Given the description of an element on the screen output the (x, y) to click on. 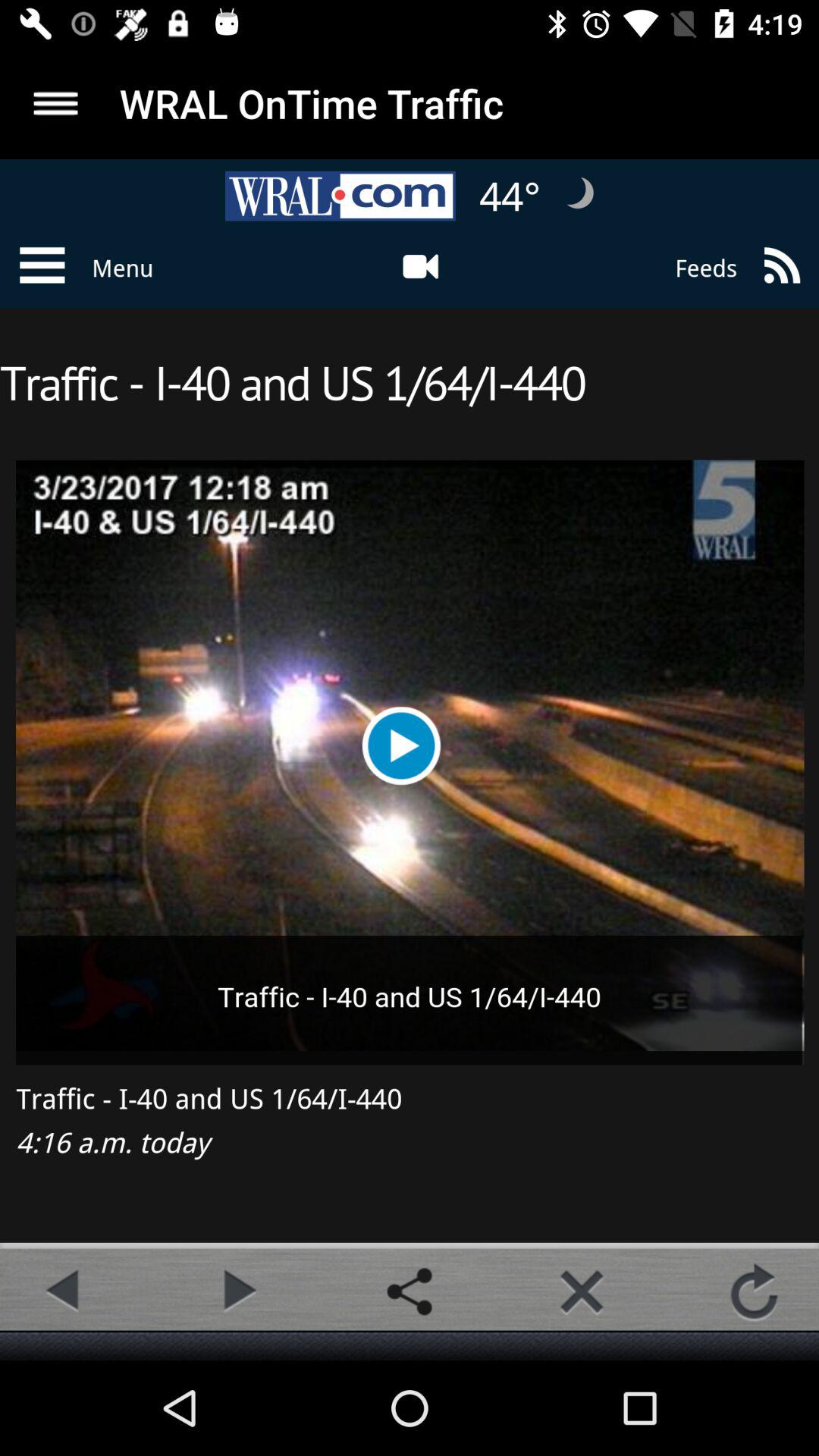
play option (237, 1291)
